Given the description of an element on the screen output the (x, y) to click on. 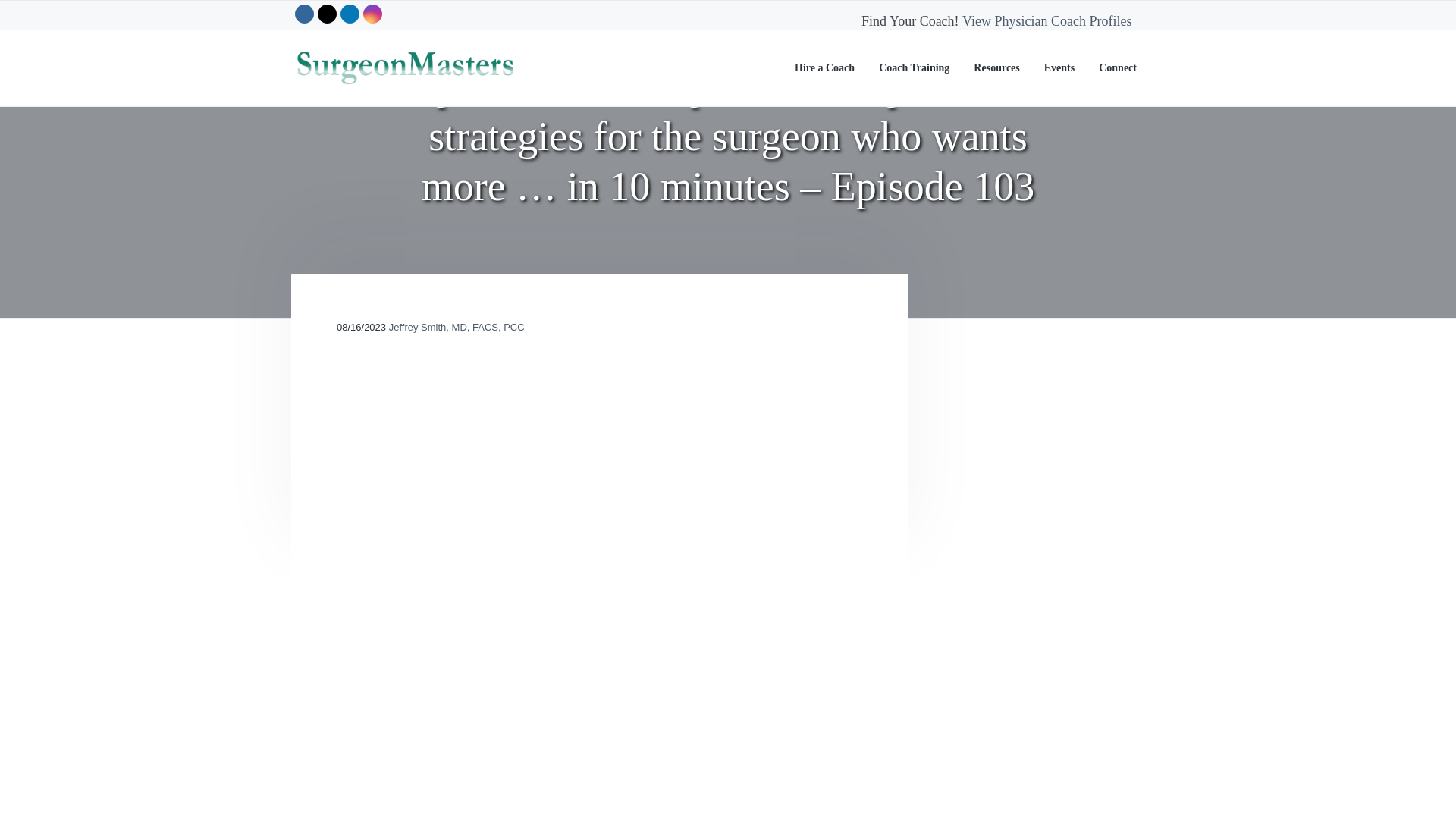
Events (1058, 67)
Connect (1118, 67)
Search (60, 18)
Jeffrey Smith, MD, FACS, PCC (456, 326)
View Physician Coach Profiles (1046, 21)
Resources (996, 67)
Coach Training (914, 67)
Hire a Coach (824, 67)
